Given the description of an element on the screen output the (x, y) to click on. 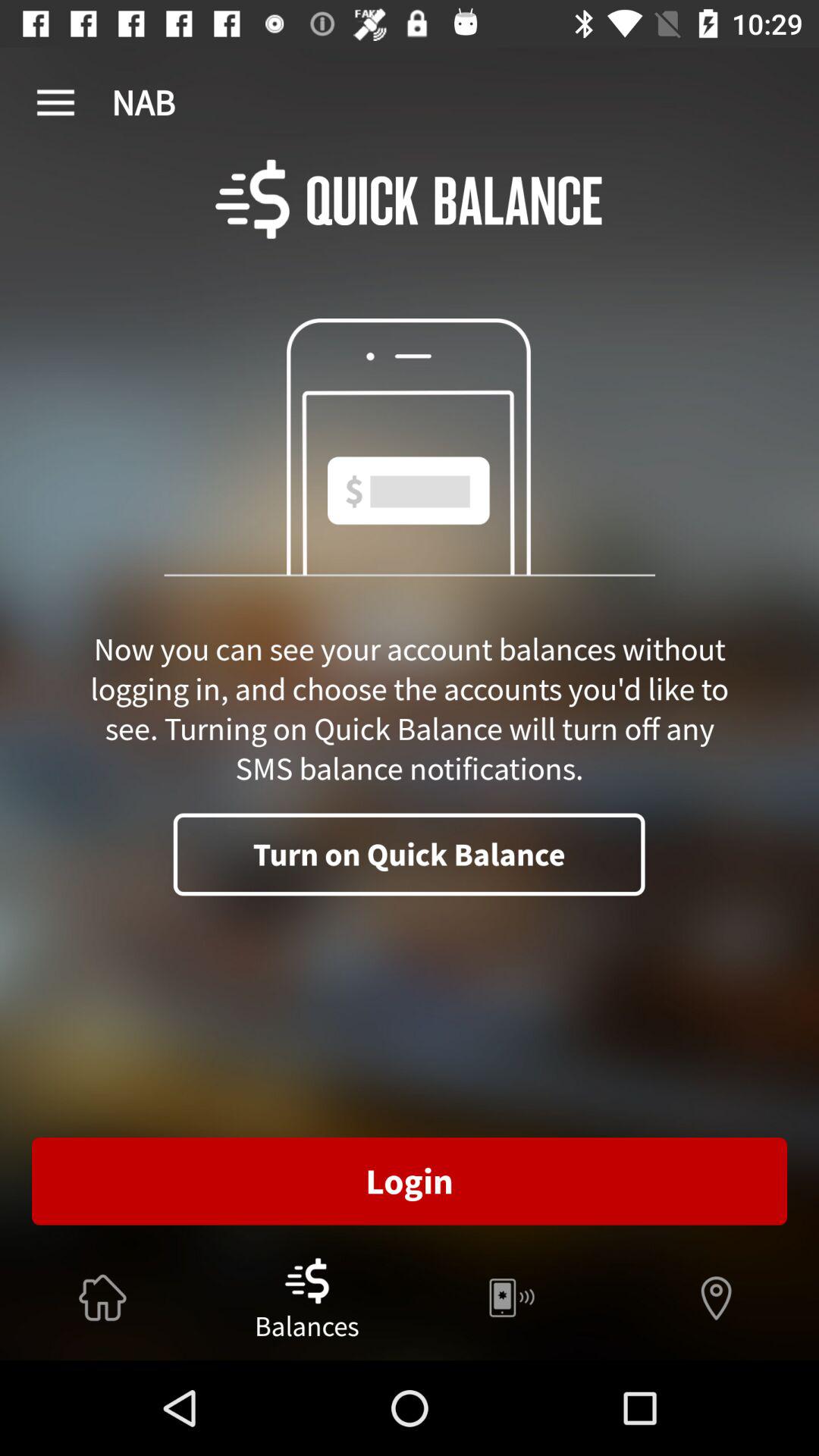
press item above now you can (55, 103)
